Given the description of an element on the screen output the (x, y) to click on. 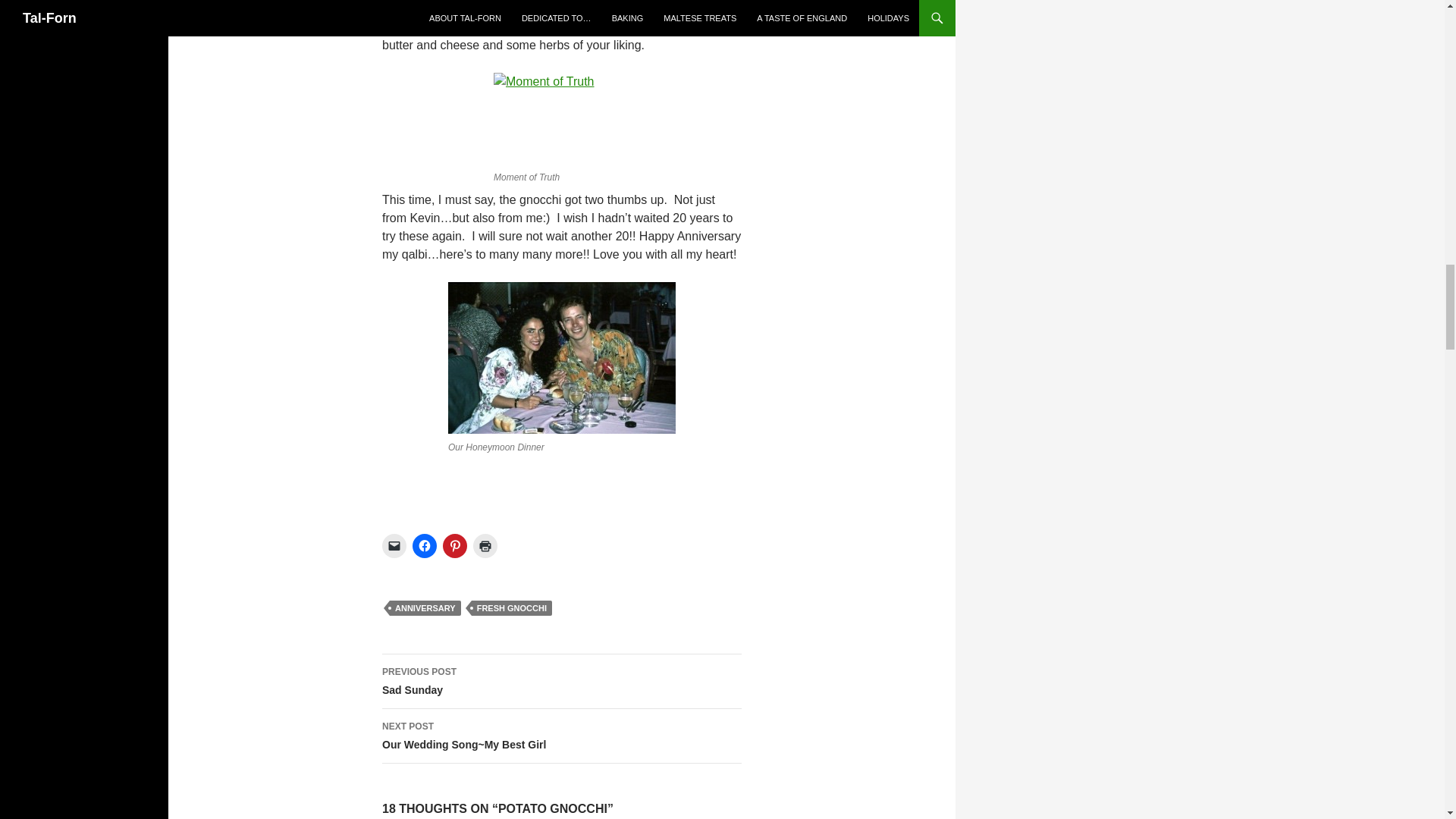
Click to print (485, 545)
Click to share on Pinterest (454, 545)
Click to share on Facebook (424, 545)
Click to email a link to a friend (393, 545)
